Given the description of an element on the screen output the (x, y) to click on. 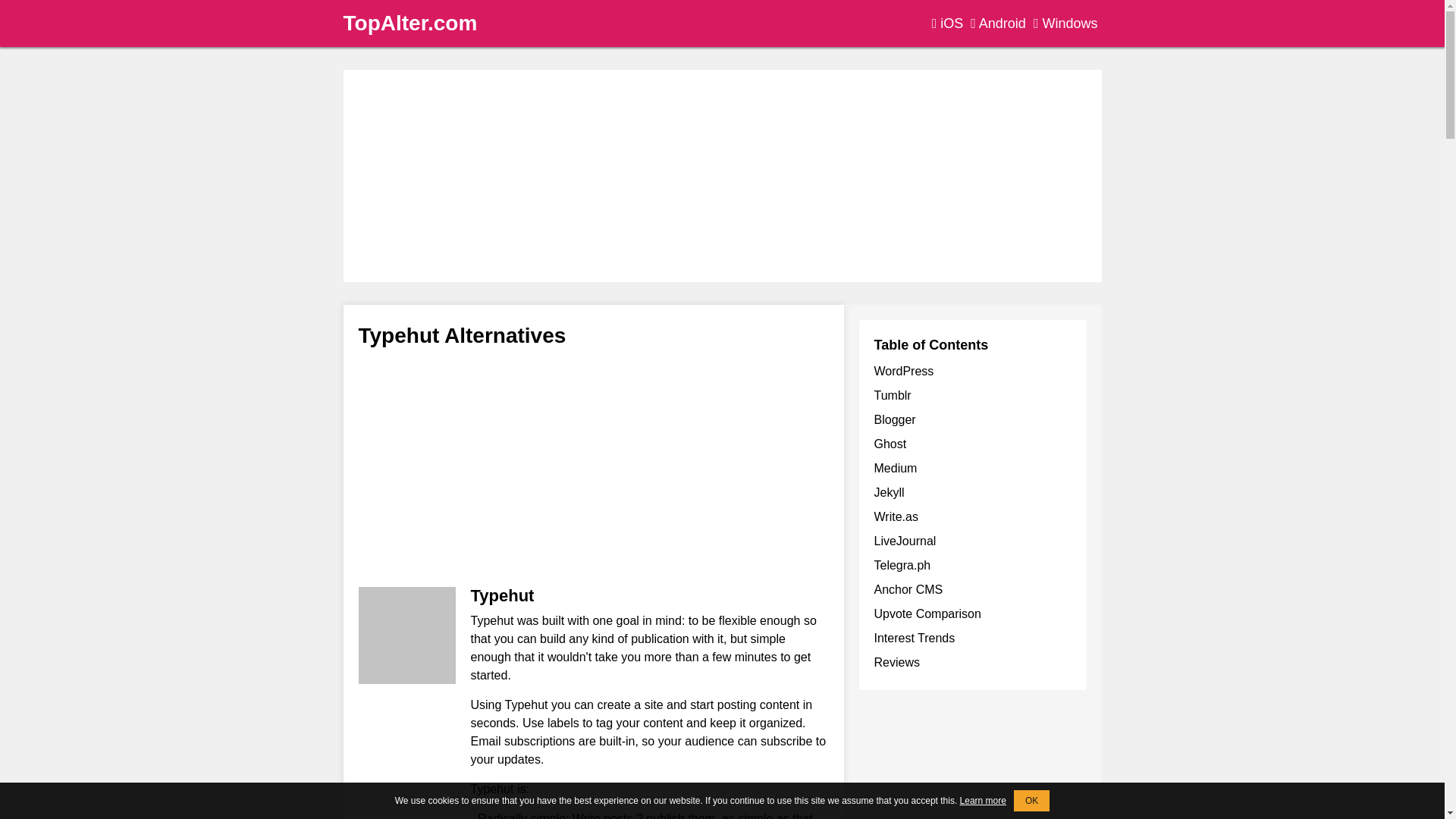
TopAlter.com (409, 23)
Advertisement (593, 465)
Windows (1065, 23)
Android (997, 23)
Advertisement (972, 762)
Typehut  Alternatives (406, 635)
